Given the description of an element on the screen output the (x, y) to click on. 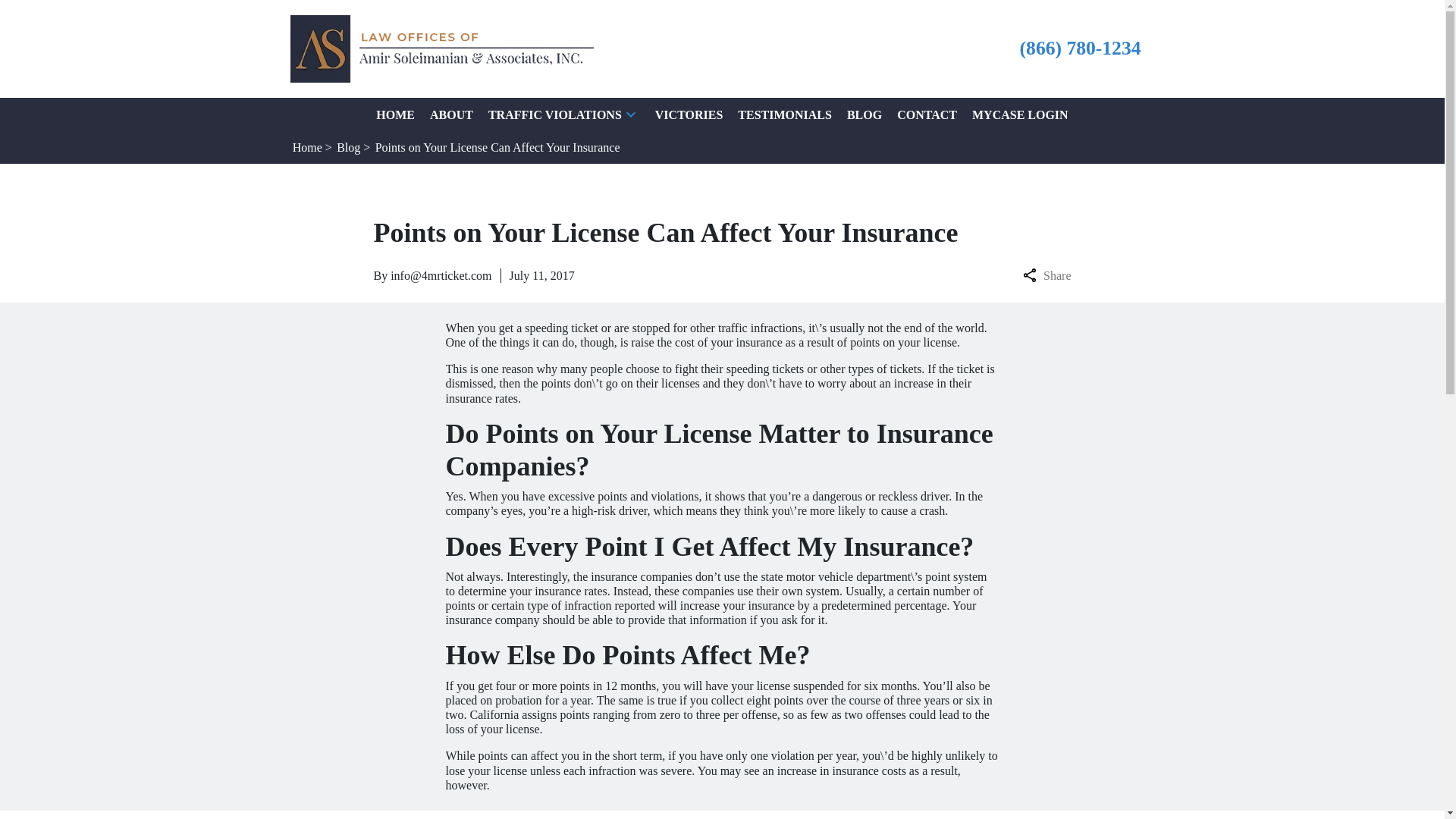
BLOG (864, 114)
MYCASE LOGIN (1020, 114)
ABOUT (451, 114)
VICTORIES (689, 114)
Points on Your License Can Affect Your Insurance (497, 147)
CONTACT (926, 114)
TESTIMONIALS (784, 114)
TRAFFIC VIOLATIONS (554, 114)
Share (1046, 275)
HOME (394, 114)
